Given the description of an element on the screen output the (x, y) to click on. 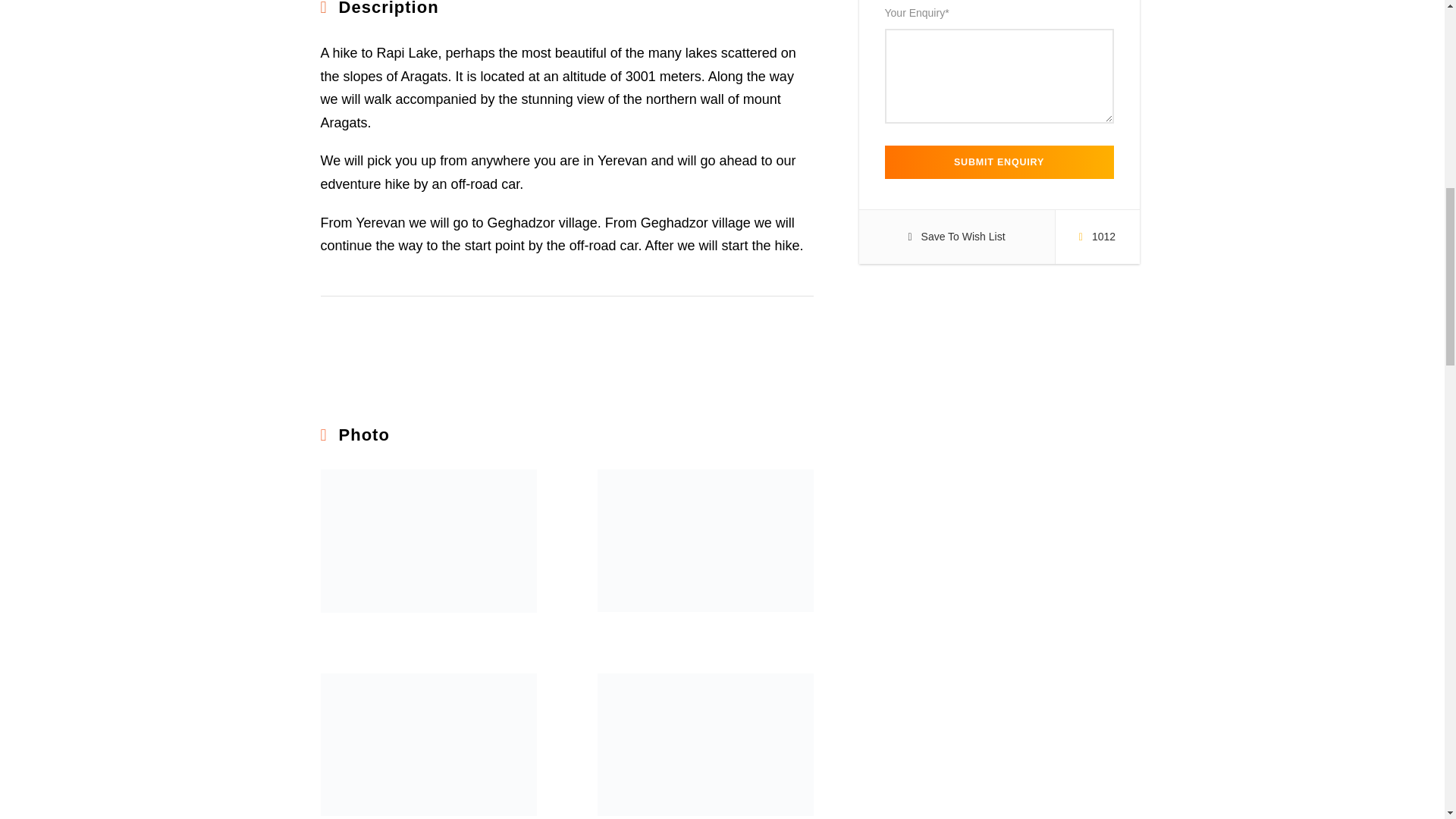
Submit Enquiry (998, 162)
